Given the description of an element on the screen output the (x, y) to click on. 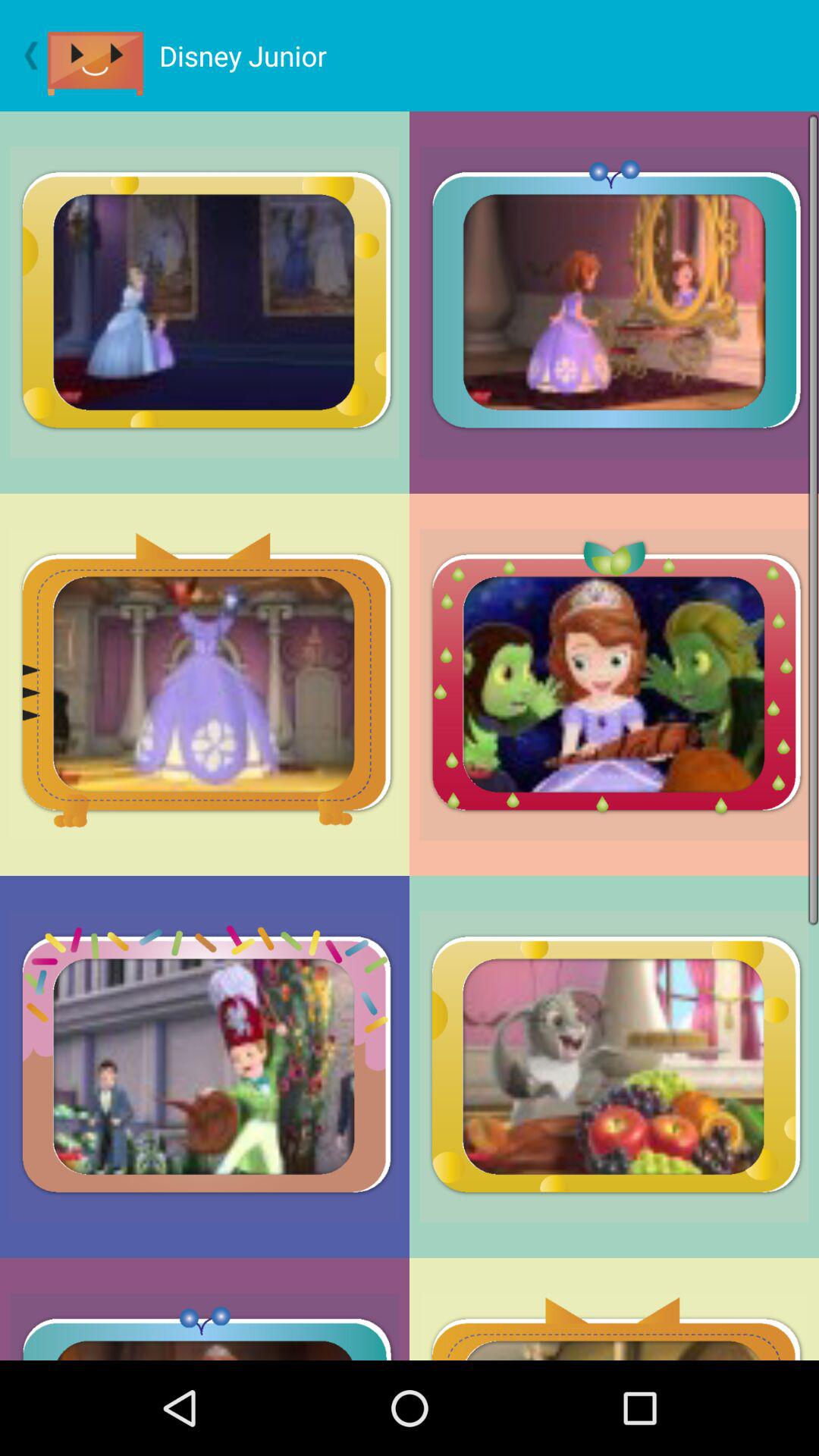
play video (103, 55)
